Given the description of an element on the screen output the (x, y) to click on. 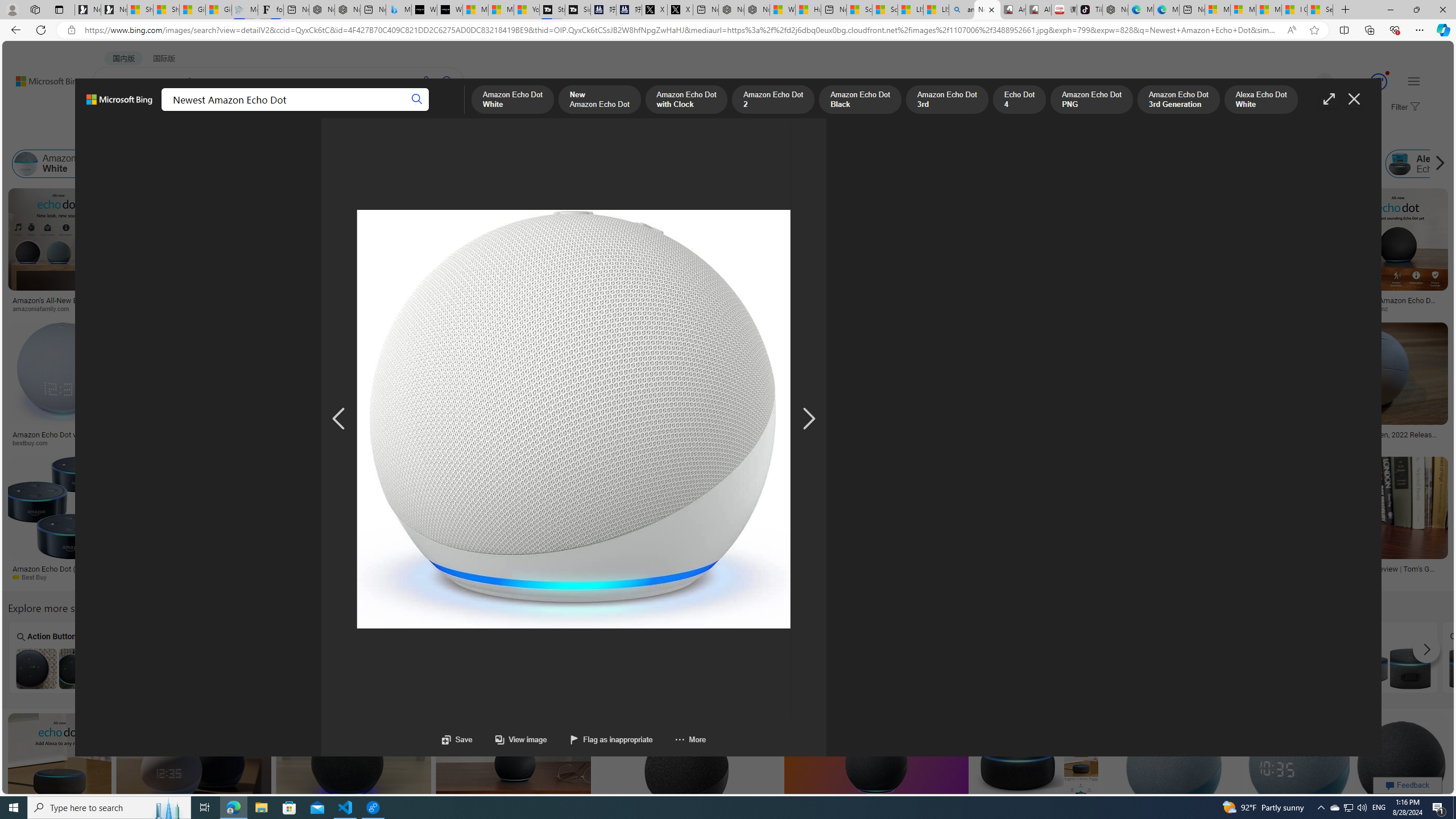
Carpher (978, 656)
amazoniafamily.com (45, 308)
Kids Edition (689, 296)
Tom's Guide (1363, 576)
Echo Dot 4 (775, 163)
Newsletter Sign Up (114, 9)
Ausdroid (914, 576)
Amazon Echo Smart Speaker (1288, 163)
Amazon Echo Dot 1 Generation (1184, 668)
I Gained 20 Pounds of Muscle in 30 Days! | Watch (1293, 9)
